Given the description of an element on the screen output the (x, y) to click on. 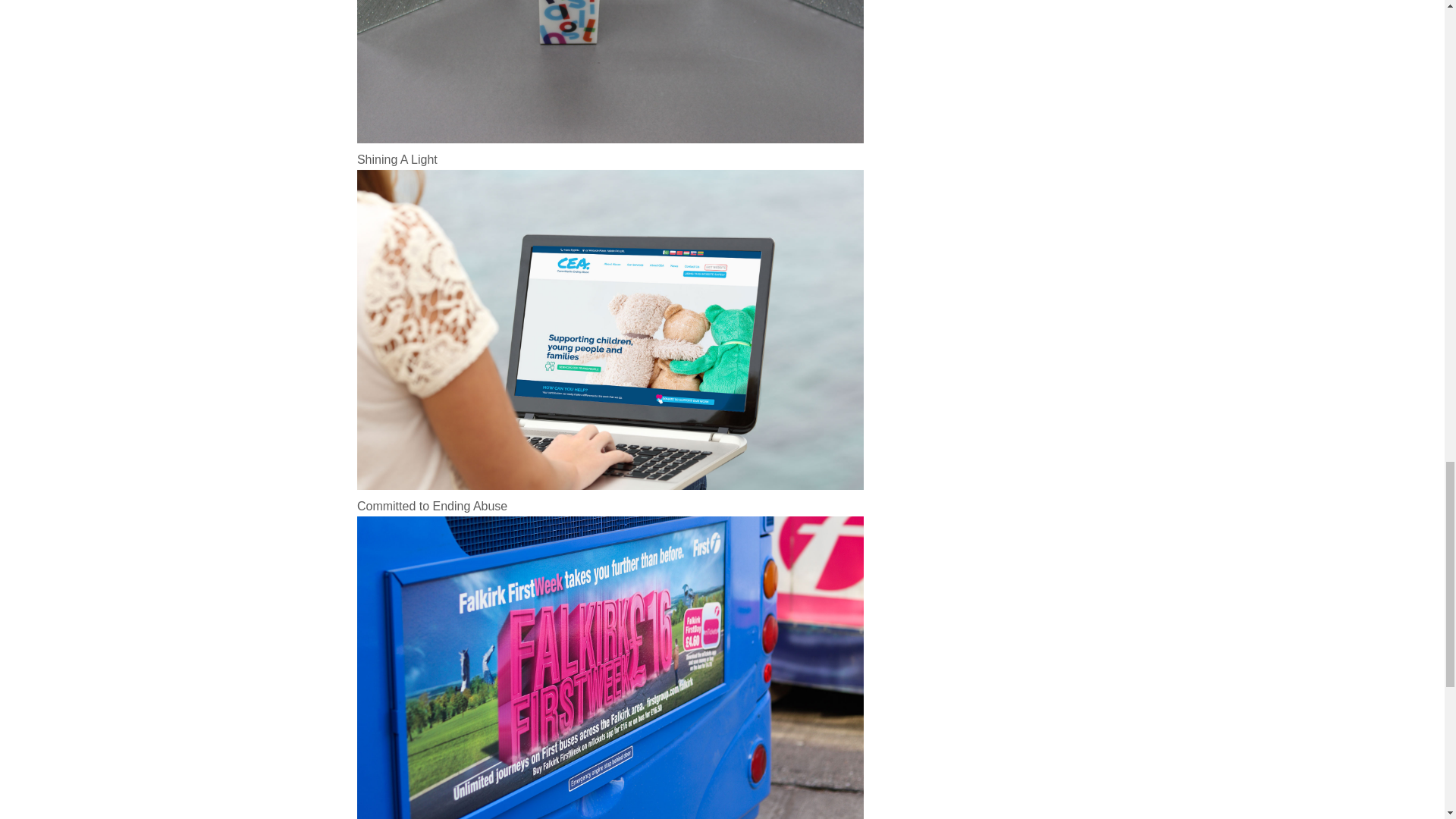
Committed to Ending Abuse (609, 506)
Shining A Light (609, 159)
Committed to Ending Abuse (609, 506)
Shining A Light (609, 159)
